Given the description of an element on the screen output the (x, y) to click on. 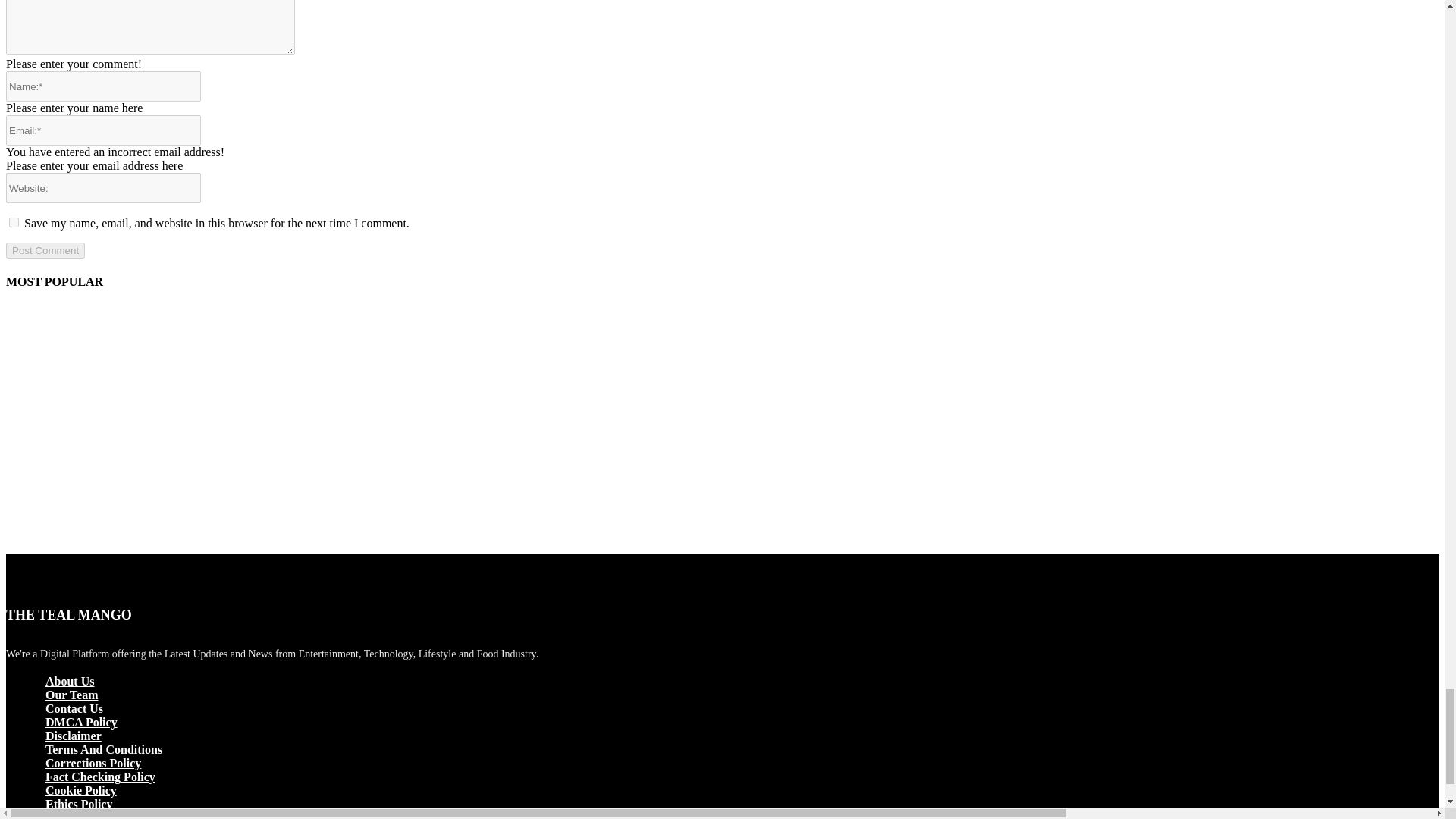
yes (13, 222)
Post Comment (44, 250)
